Given the description of an element on the screen output the (x, y) to click on. 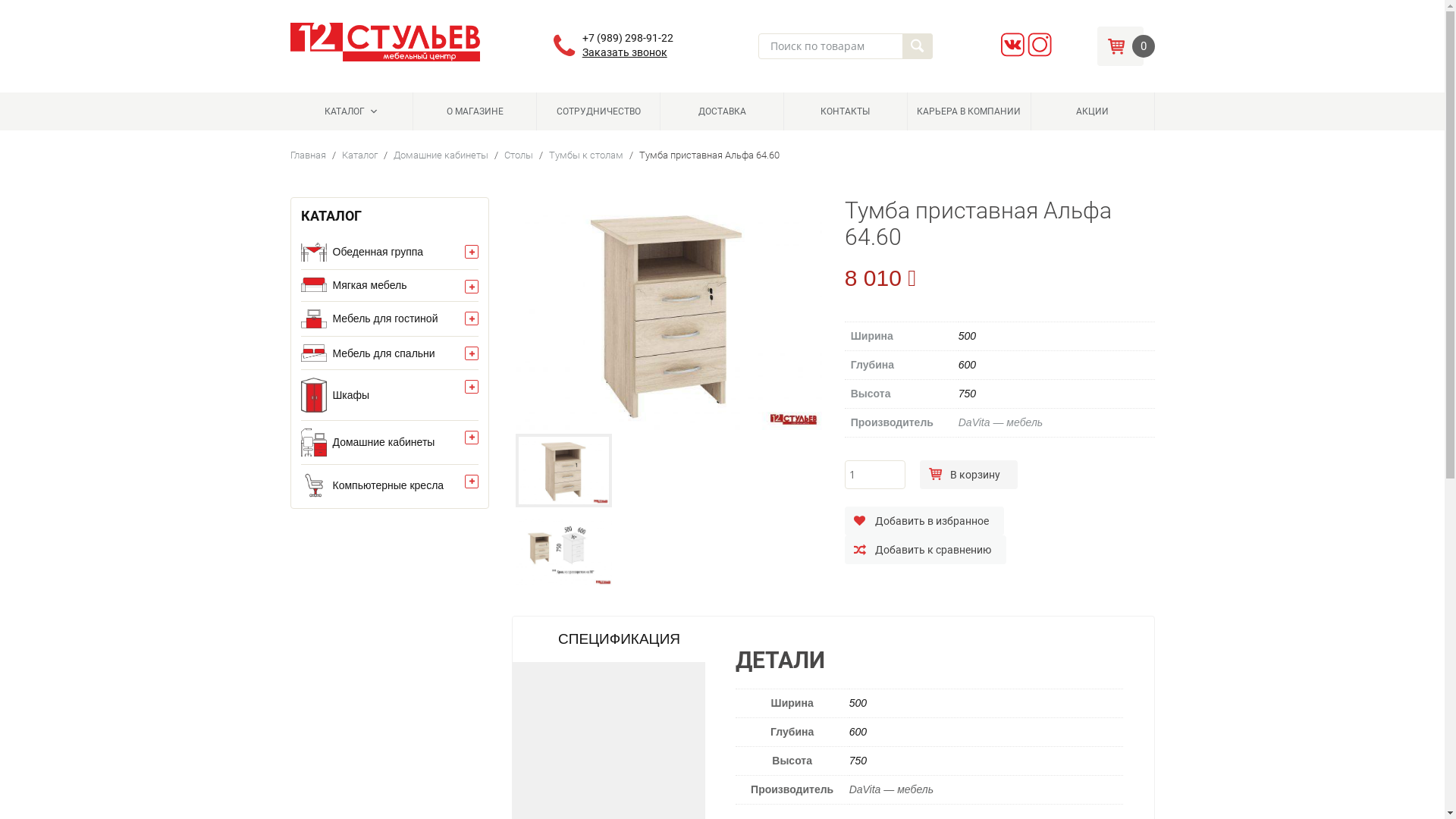
500 Element type: text (857, 702)
750 Element type: text (966, 393)
photo_1__0000030068_Alfa 64.60Tumba pristavnaya (1) Element type: hover (666, 313)
Skip to content Element type: text (324, 98)
750 Element type: text (857, 760)
photo_2__0000030068_Alfa 64.60Tumba pristavnaya (1) Element type: hover (563, 549)
500 Element type: text (966, 335)
+7 (989) 298-91-22 Element type: text (627, 37)
600 Element type: text (857, 731)
photo_1__0000030068_Alfa 64.60Tumba pristavnaya (1) Element type: hover (563, 470)
600 Element type: text (966, 364)
